Given the description of an element on the screen output the (x, y) to click on. 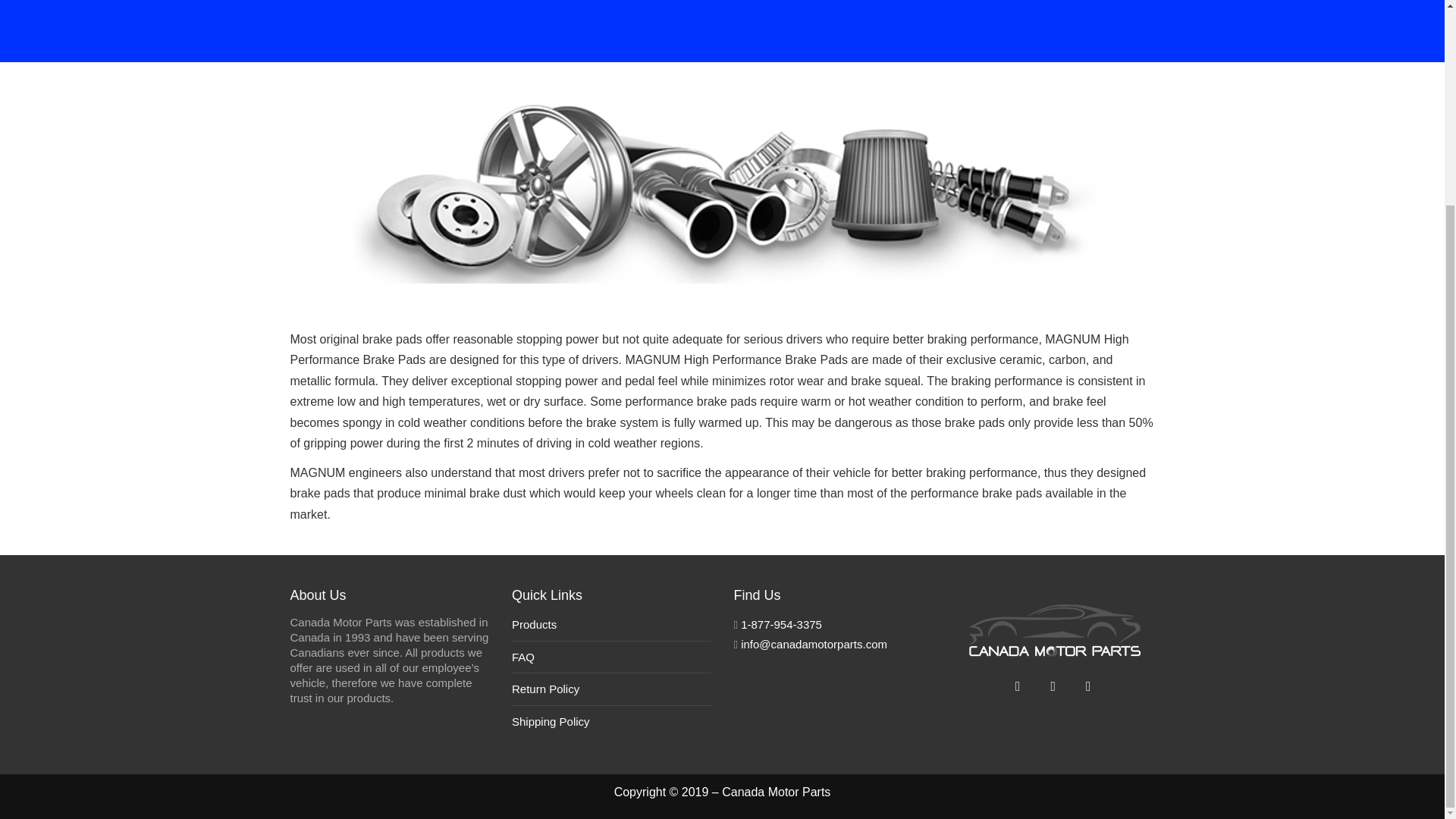
Products (534, 624)
FAQ (523, 656)
1-877-954-3375 (781, 624)
Shipping Policy (550, 721)
Return Policy (545, 688)
